Given the description of an element on the screen output the (x, y) to click on. 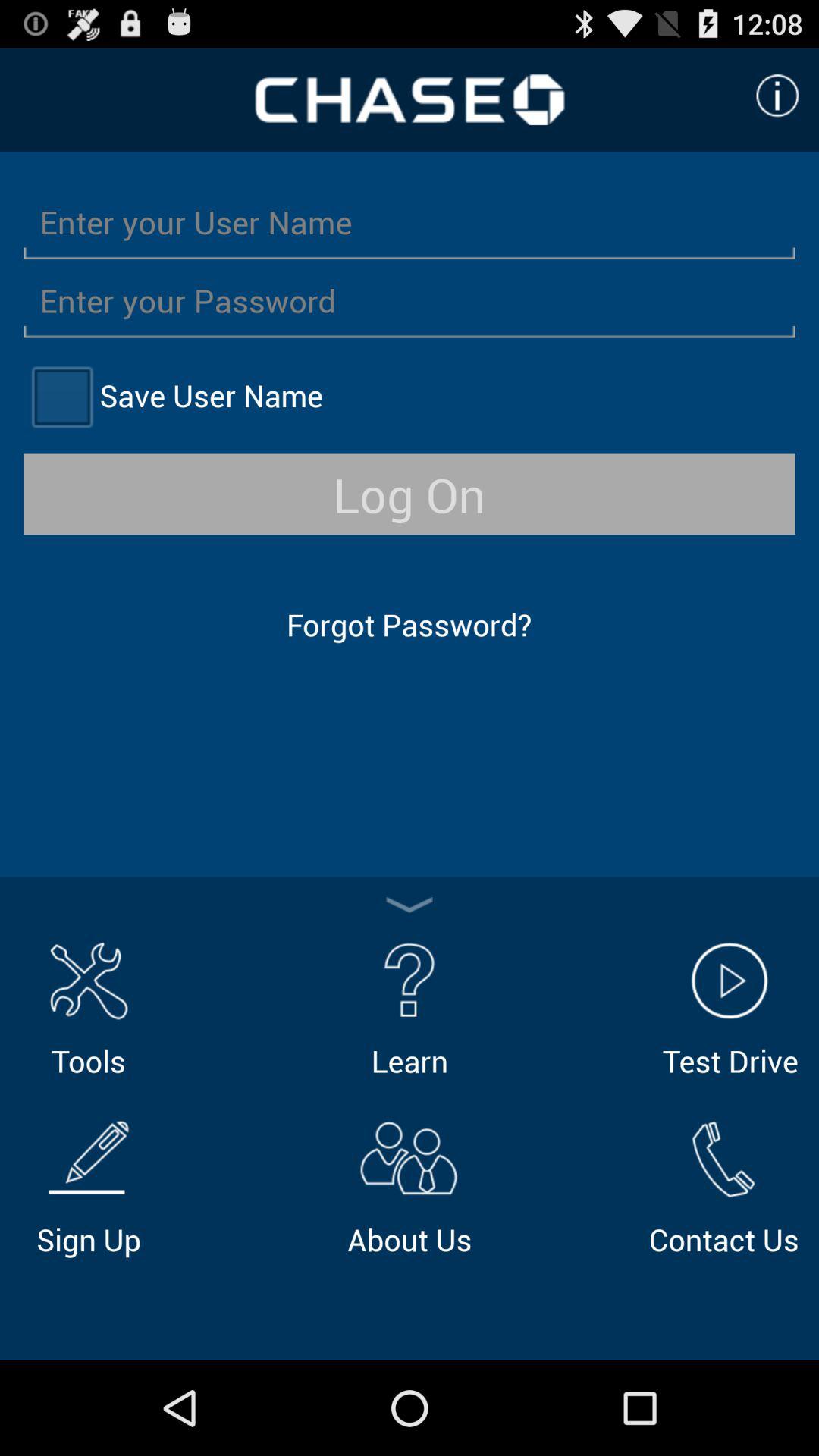
more options (409, 904)
